Given the description of an element on the screen output the (x, y) to click on. 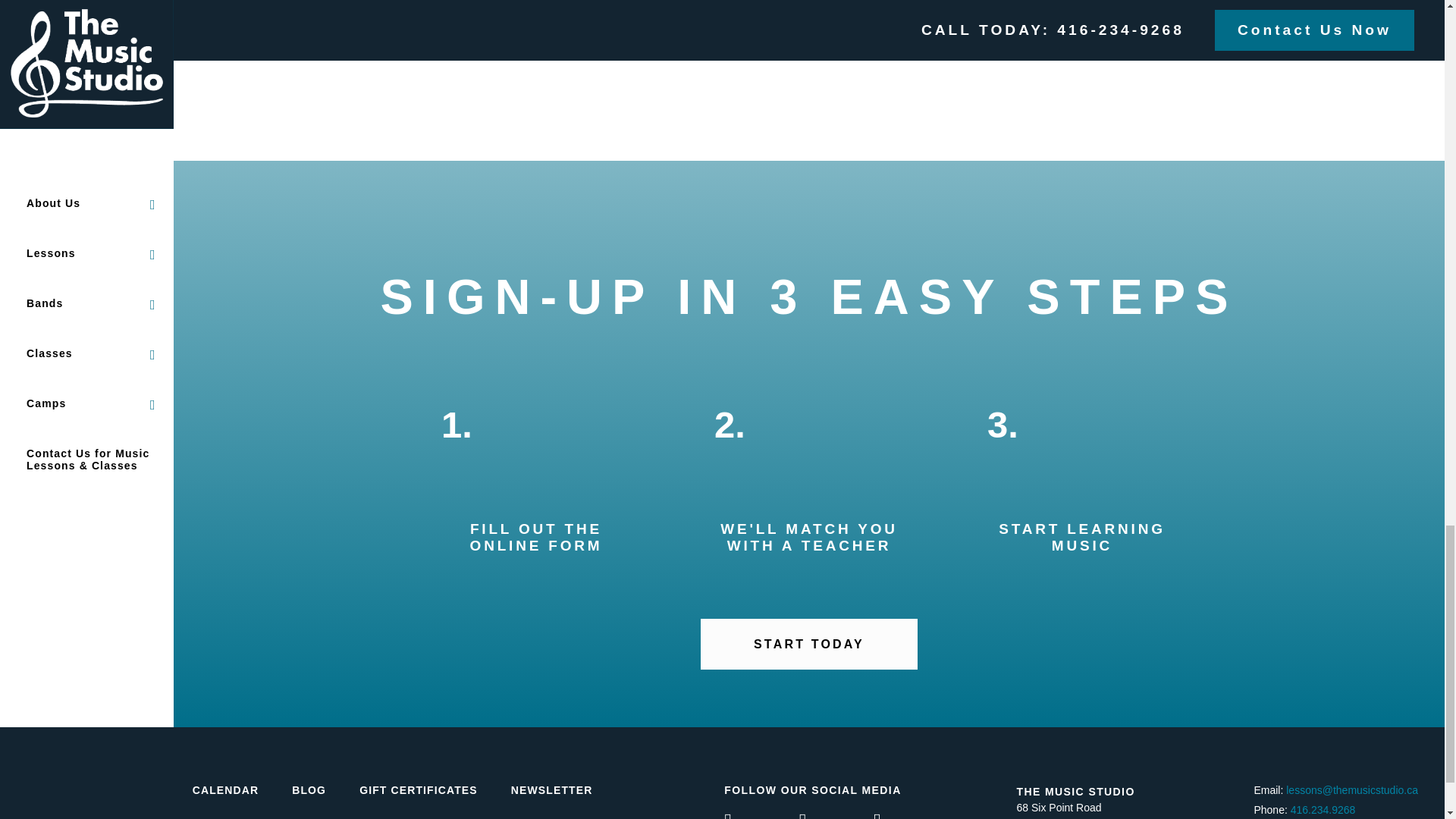
Youtube (834, 818)
Email Us (1351, 789)
Facebook (759, 818)
